Given the description of an element on the screen output the (x, y) to click on. 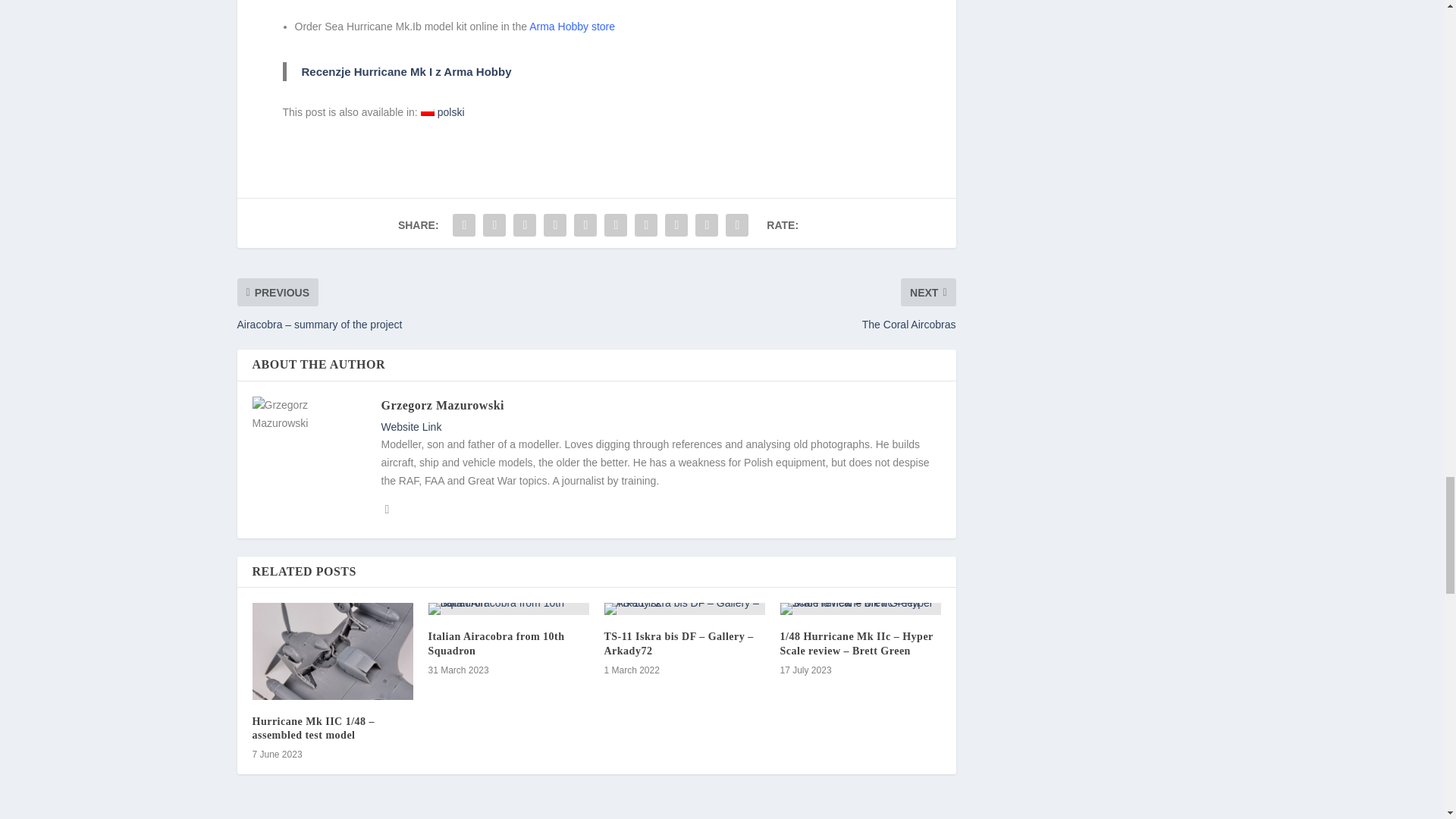
Recenzje Hurricane Mk I z Arma Hobby (406, 71)
polski (442, 112)
Arma Hobby store (571, 26)
